Given the description of an element on the screen output the (x, y) to click on. 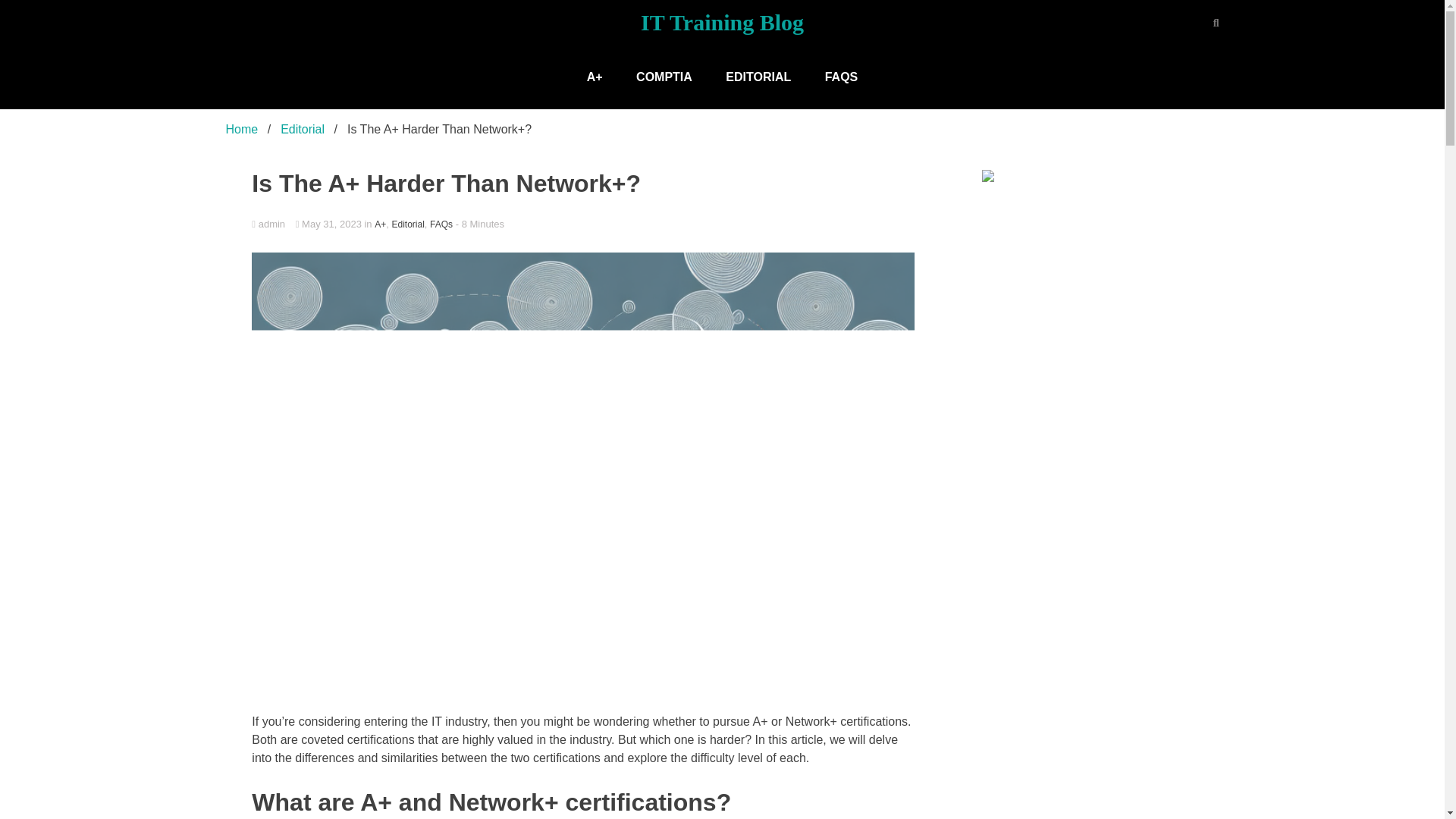
EDITORIAL (758, 76)
Editorial (302, 128)
FAQs (440, 223)
Editorial (407, 223)
May 31, 2023 (330, 224)
IT Training Blog (721, 22)
admin (582, 224)
Home (242, 128)
Estimated Reading Time of Article (479, 224)
COMPTIA (664, 76)
